Given the description of an element on the screen output the (x, y) to click on. 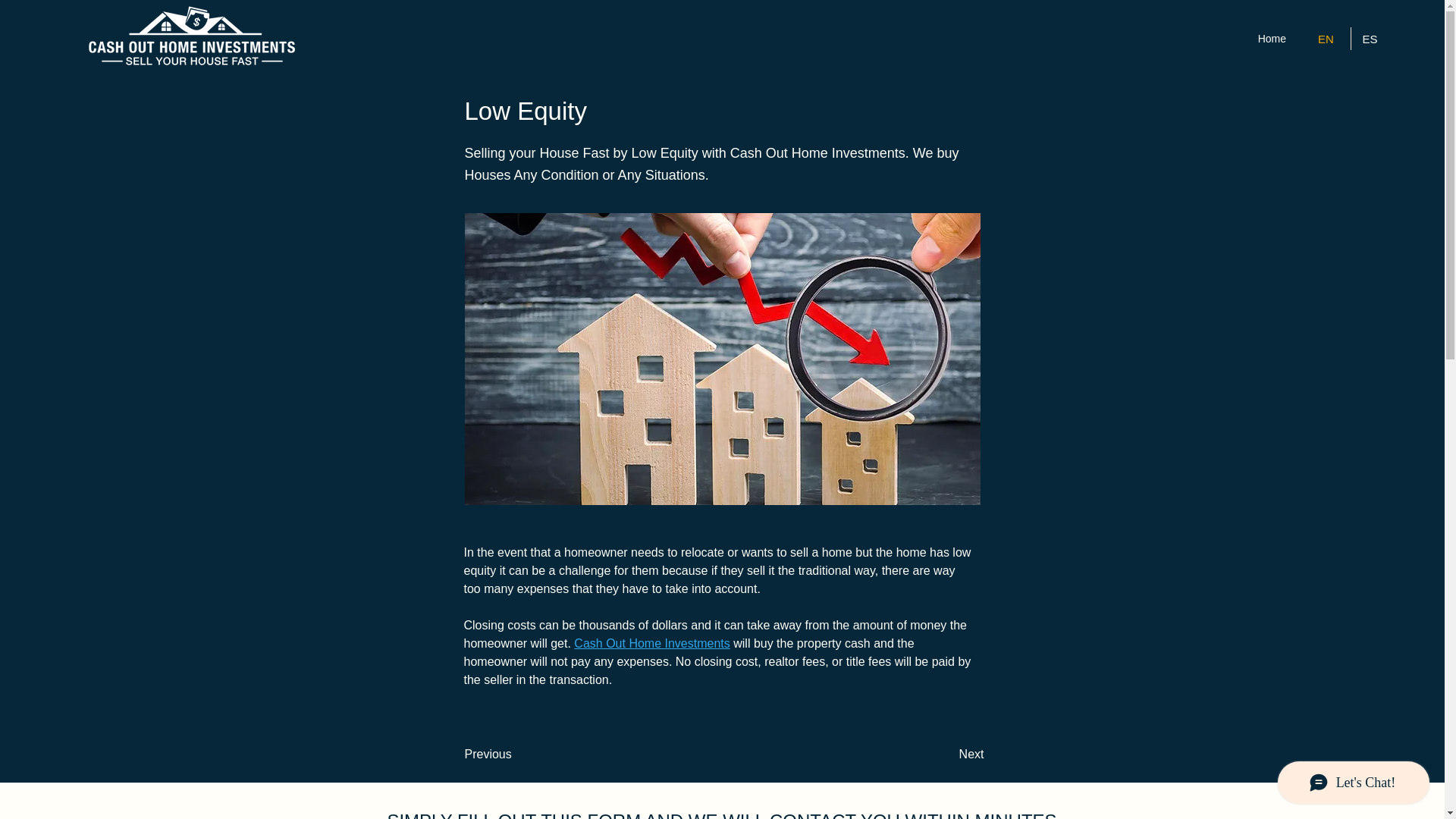
Cash Out Home Investments (651, 643)
Home (1271, 38)
ES (1372, 38)
Next (946, 754)
CashOutHomeInvestmentsLogo.png (190, 38)
Previous (514, 754)
EN (1329, 38)
